Given the description of an element on the screen output the (x, y) to click on. 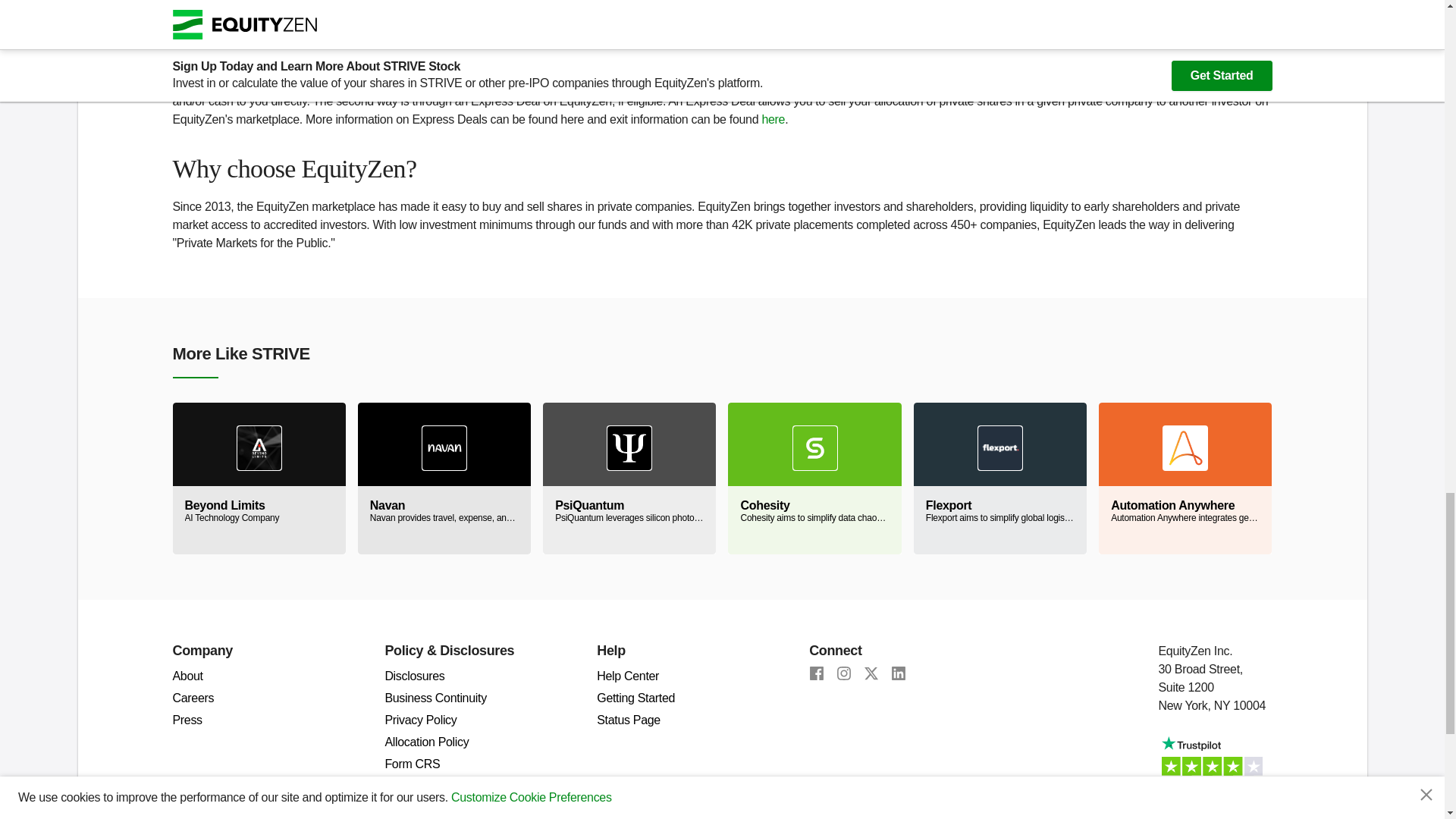
here (381, 0)
Customer reviews powered by Trustpilot (1215, 771)
Careers (193, 697)
About (188, 675)
here (772, 119)
Press (187, 719)
Allocation Policy (426, 741)
Press (187, 719)
